Given the description of an element on the screen output the (x, y) to click on. 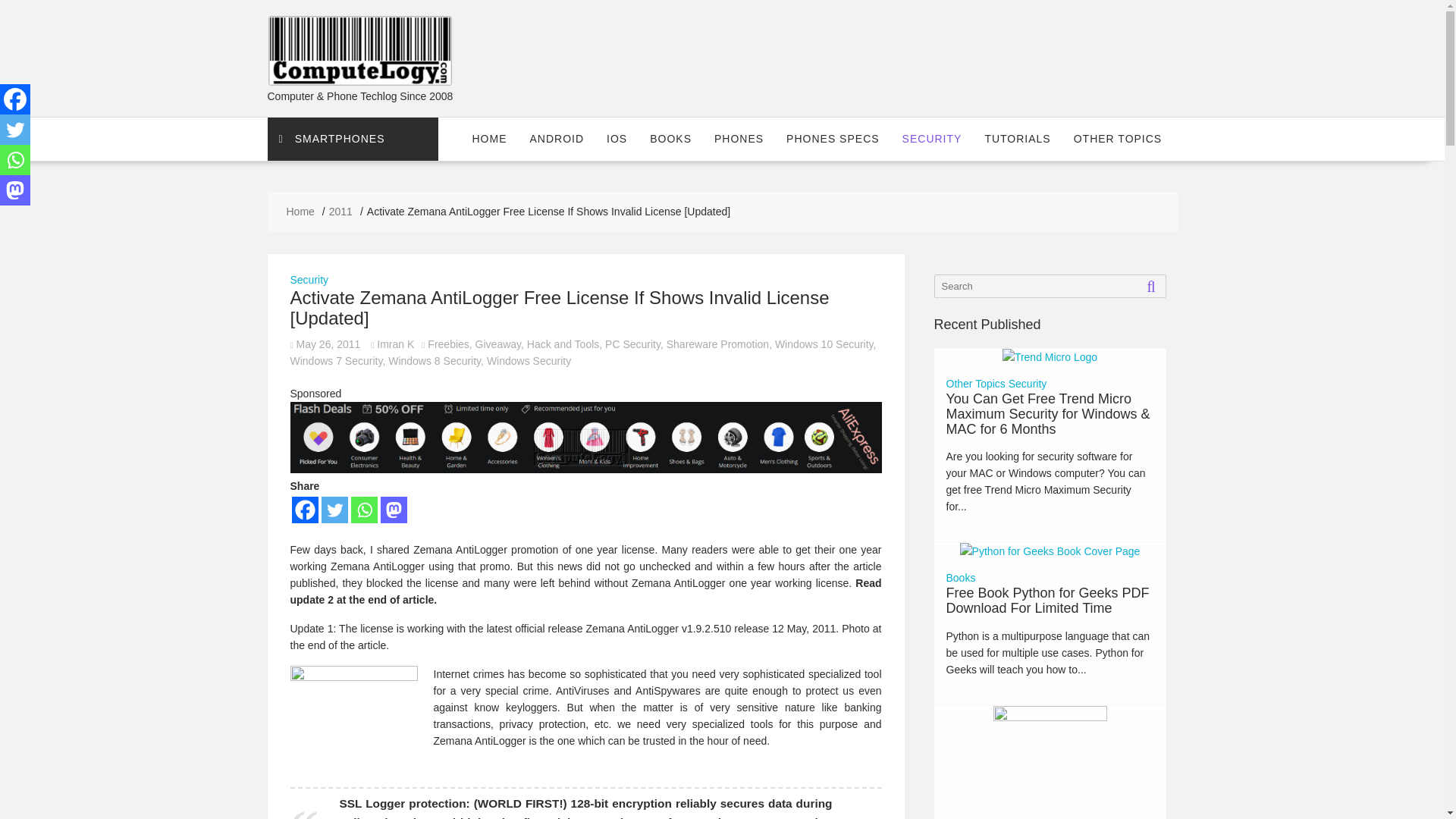
OTHER TOPICS (1117, 138)
Shareware Promotion (717, 344)
HOME (489, 138)
Hack and Tools (562, 344)
Freebies (448, 344)
PHONES SPECS (831, 138)
SECURITY (932, 138)
